Given the description of an element on the screen output the (x, y) to click on. 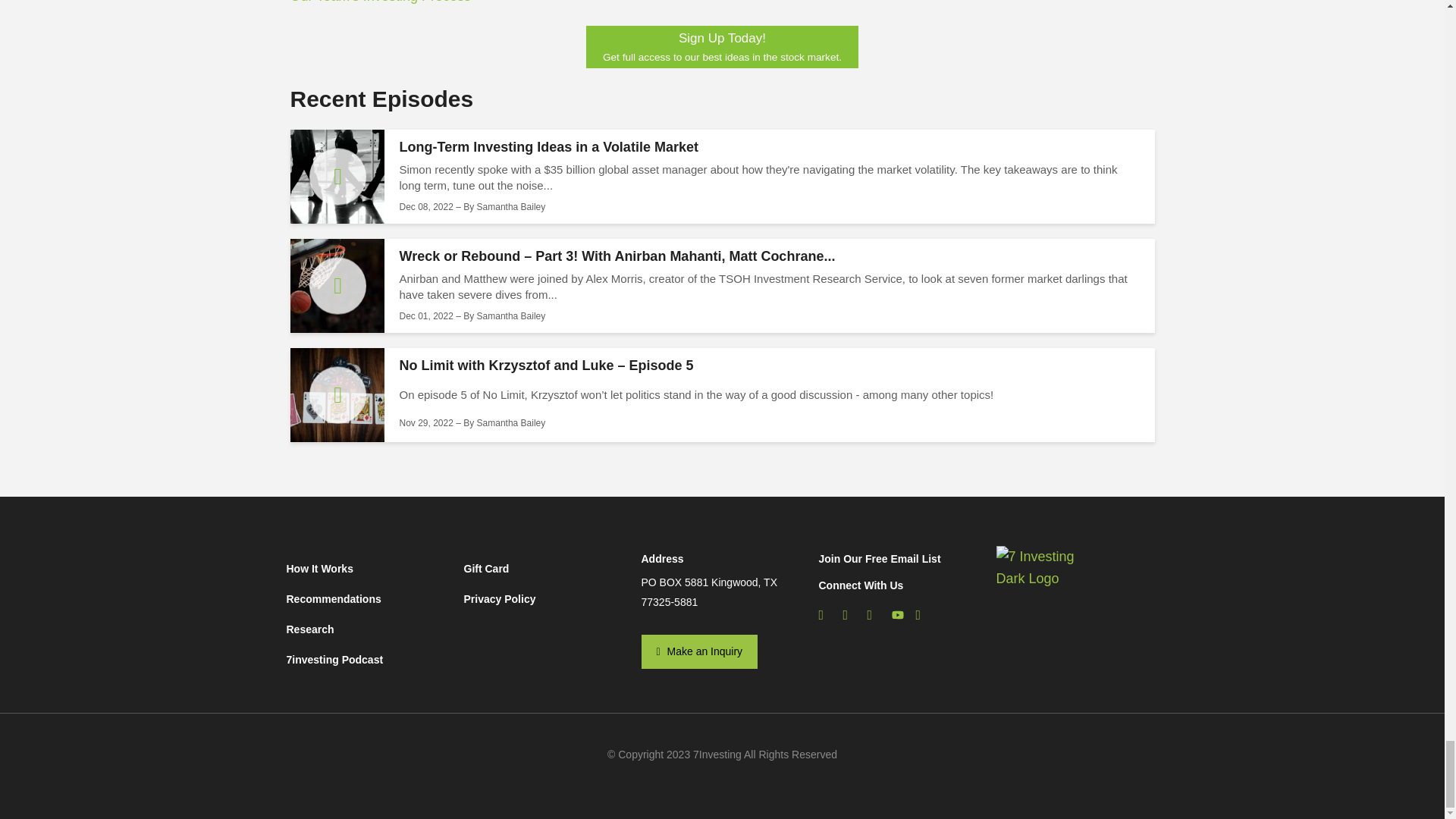
Make an Inquiry (700, 651)
Recommendations (367, 598)
7investing Podcast (367, 659)
Privacy Policy (545, 598)
How It Works (367, 572)
Gift Card (545, 572)
Join Our Free Email List (879, 558)
Research (367, 629)
